Given the description of an element on the screen output the (x, y) to click on. 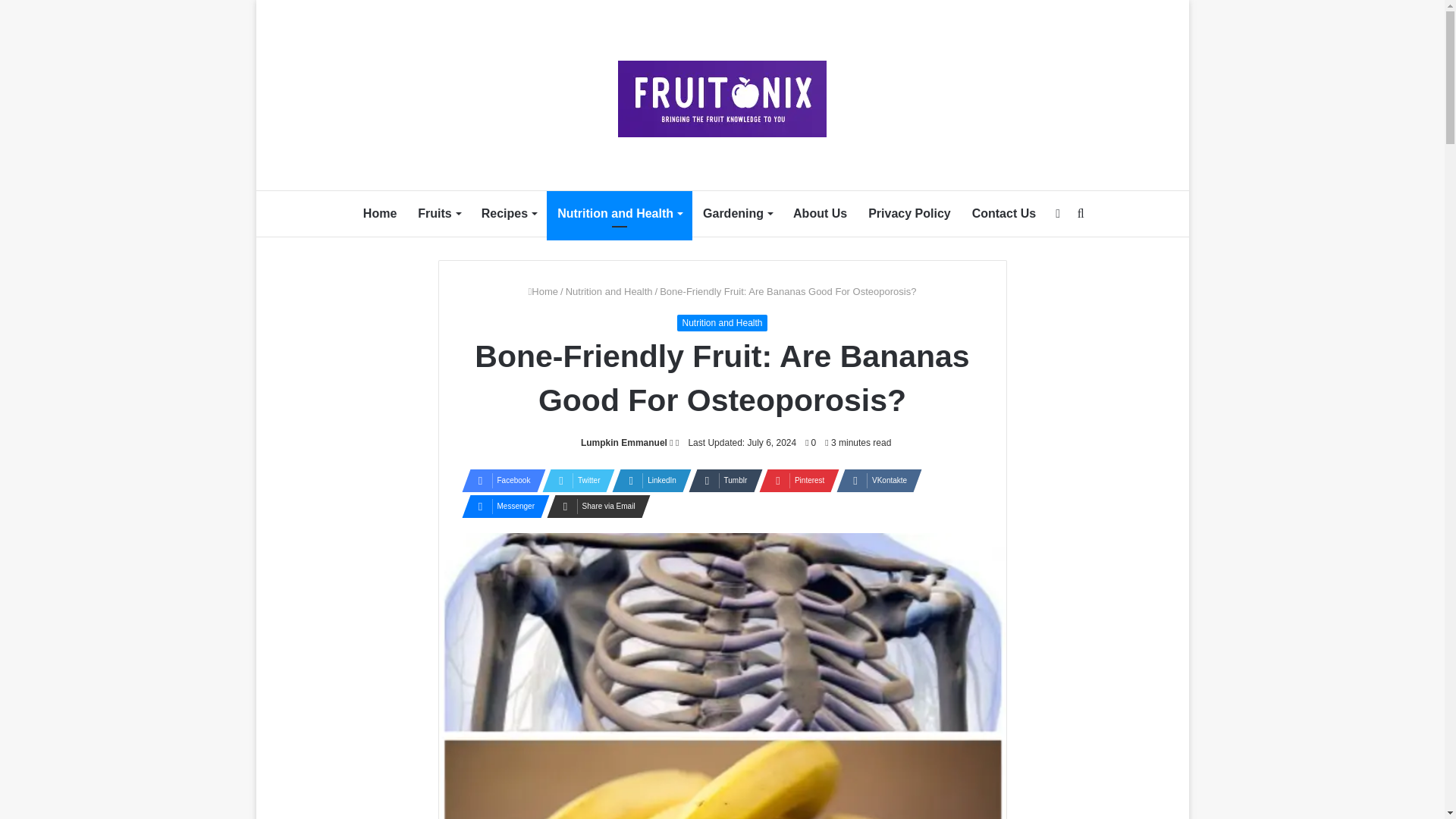
Home (379, 213)
About Us (820, 213)
Tumblr (721, 480)
VKontakte (873, 480)
Tumblr (721, 480)
Nutrition and Health (609, 291)
Facebook (498, 480)
VKontakte (873, 480)
Gardening (738, 213)
Twitter (573, 480)
FruitoNix (722, 98)
Recipes (508, 213)
Pinterest (793, 480)
Messenger (500, 506)
Privacy Policy (908, 213)
